Given the description of an element on the screen output the (x, y) to click on. 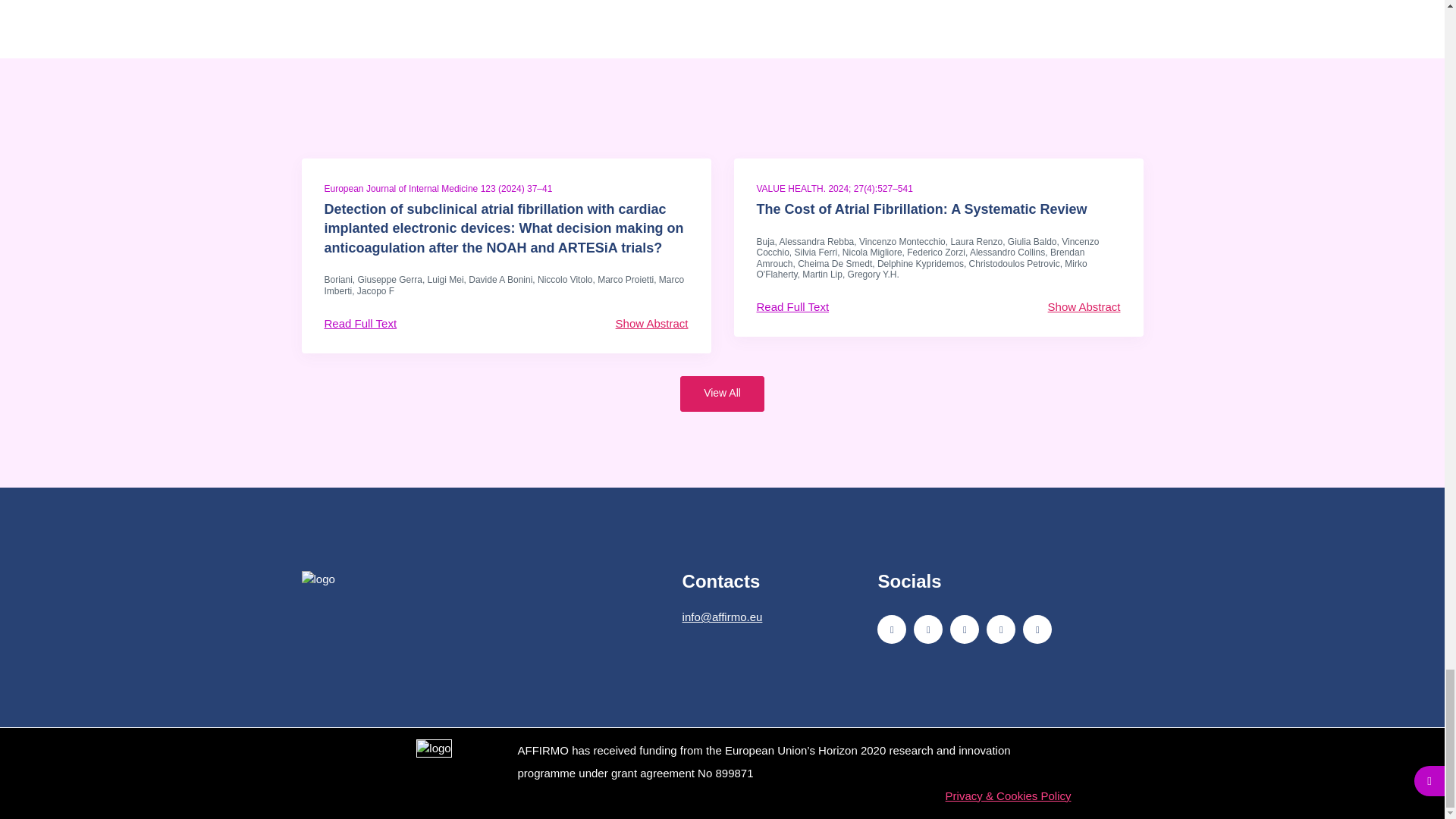
Show Abstract (651, 323)
View All (721, 393)
Show Abstract (1084, 307)
Read Full Text (793, 307)
Read Full Text (360, 323)
